Given the description of an element on the screen output the (x, y) to click on. 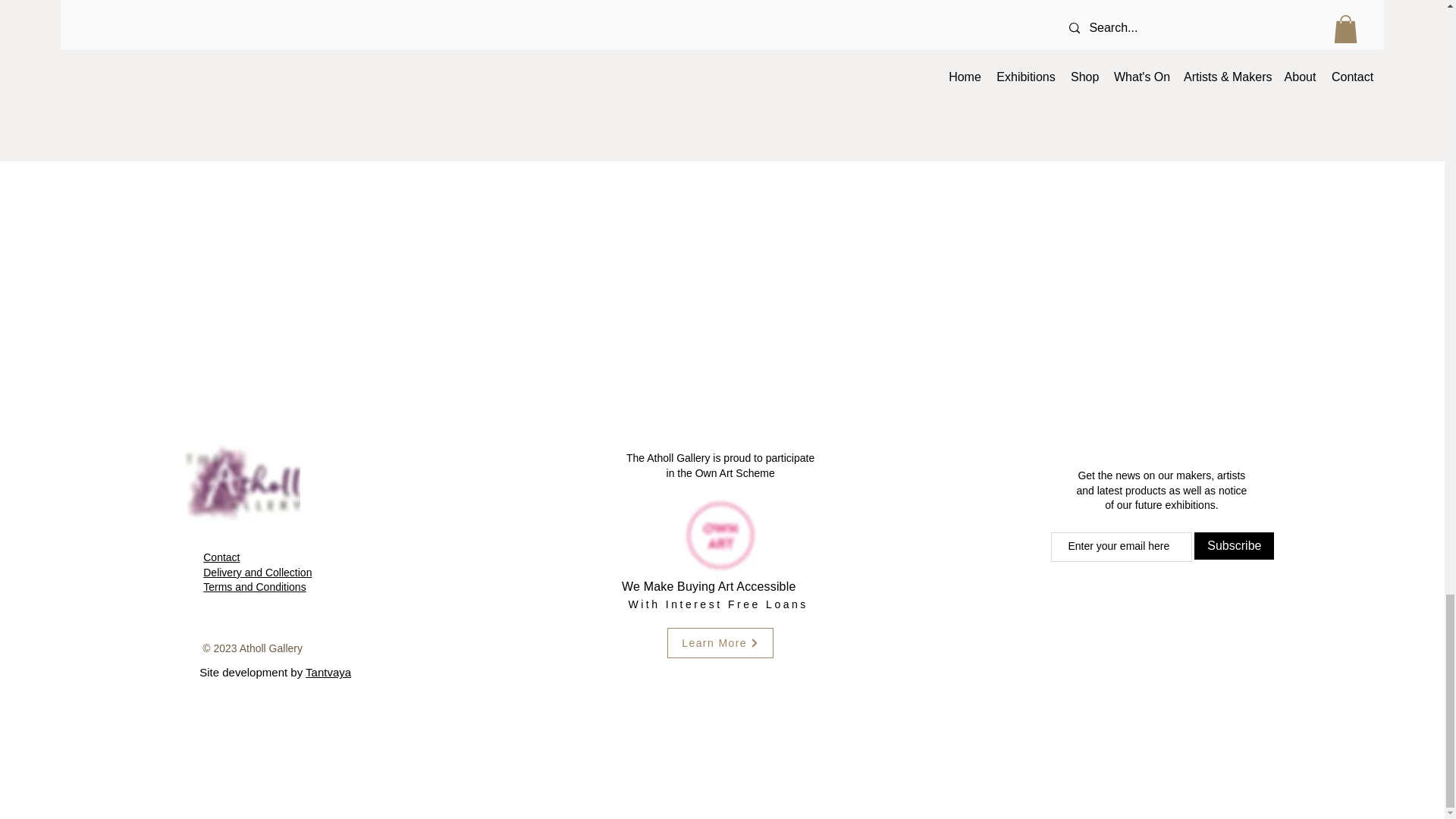
Contact (221, 557)
Subscribe (1233, 545)
Learn More (719, 643)
Tantvaya (327, 671)
Terms and Conditions (254, 586)
Delivery and Collection (257, 572)
